Given the description of an element on the screen output the (x, y) to click on. 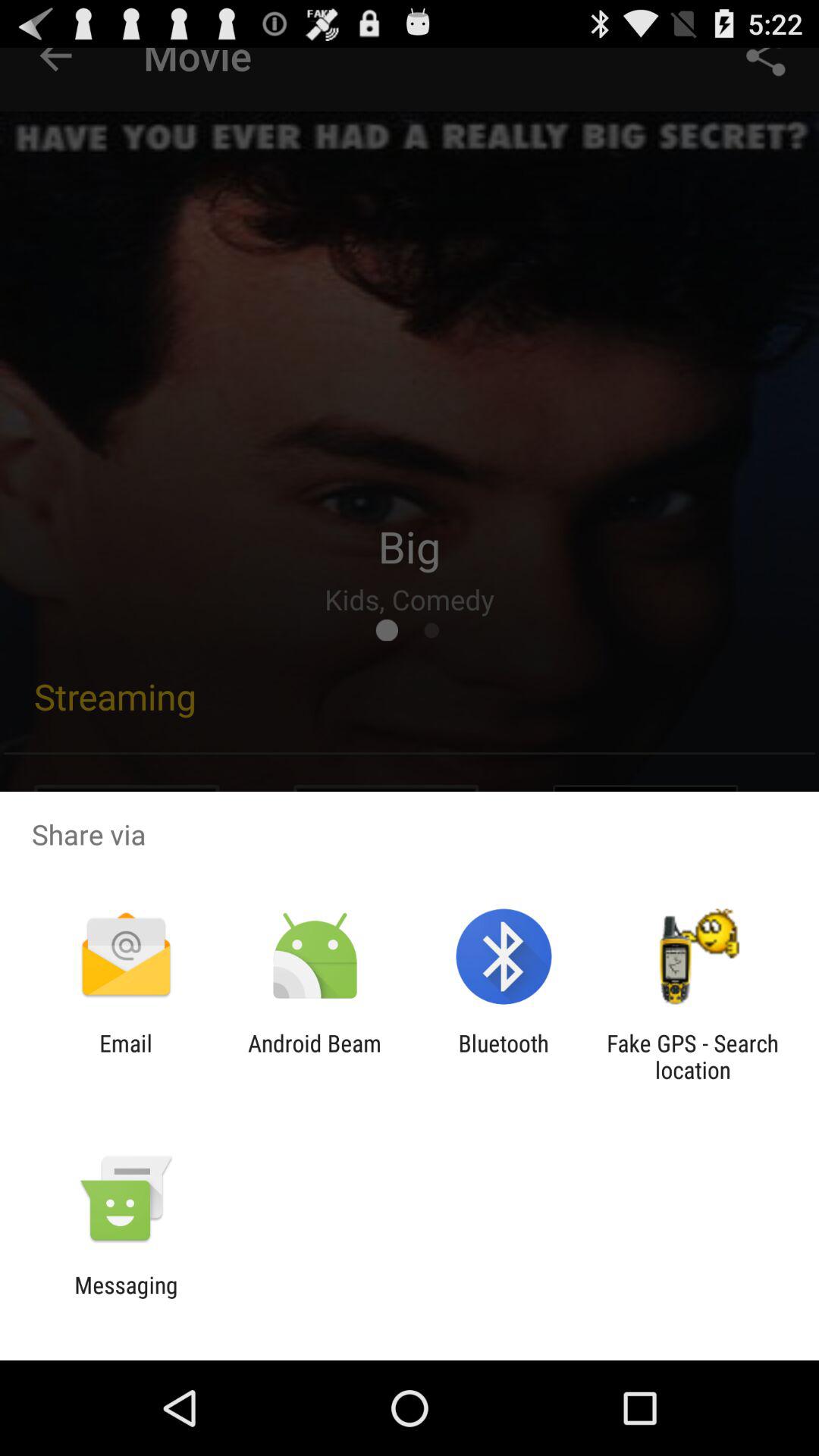
flip to android beam icon (314, 1056)
